Given the description of an element on the screen output the (x, y) to click on. 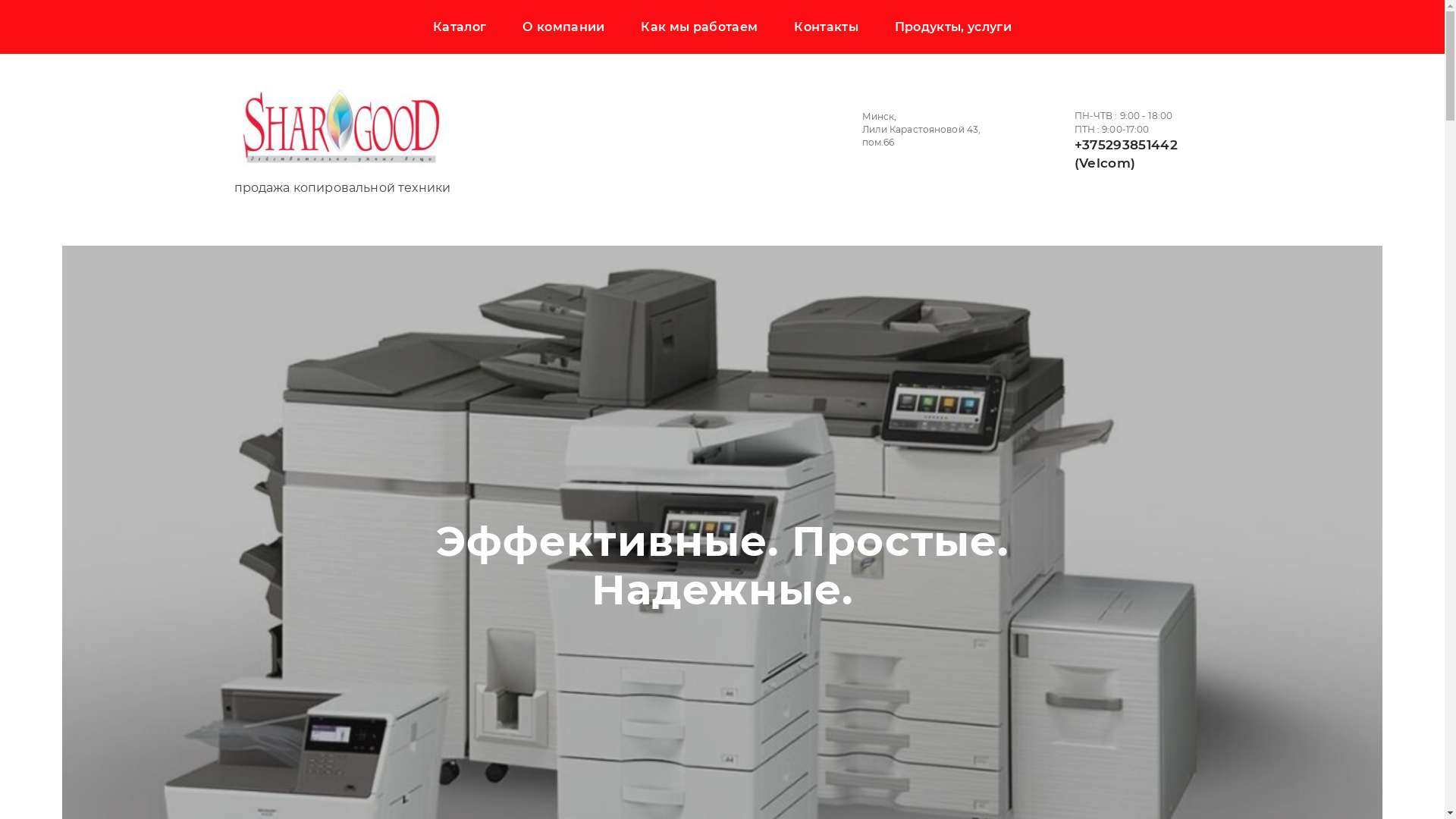
+375293851442 (Velcom) Element type: text (1124, 153)
